Given the description of an element on the screen output the (x, y) to click on. 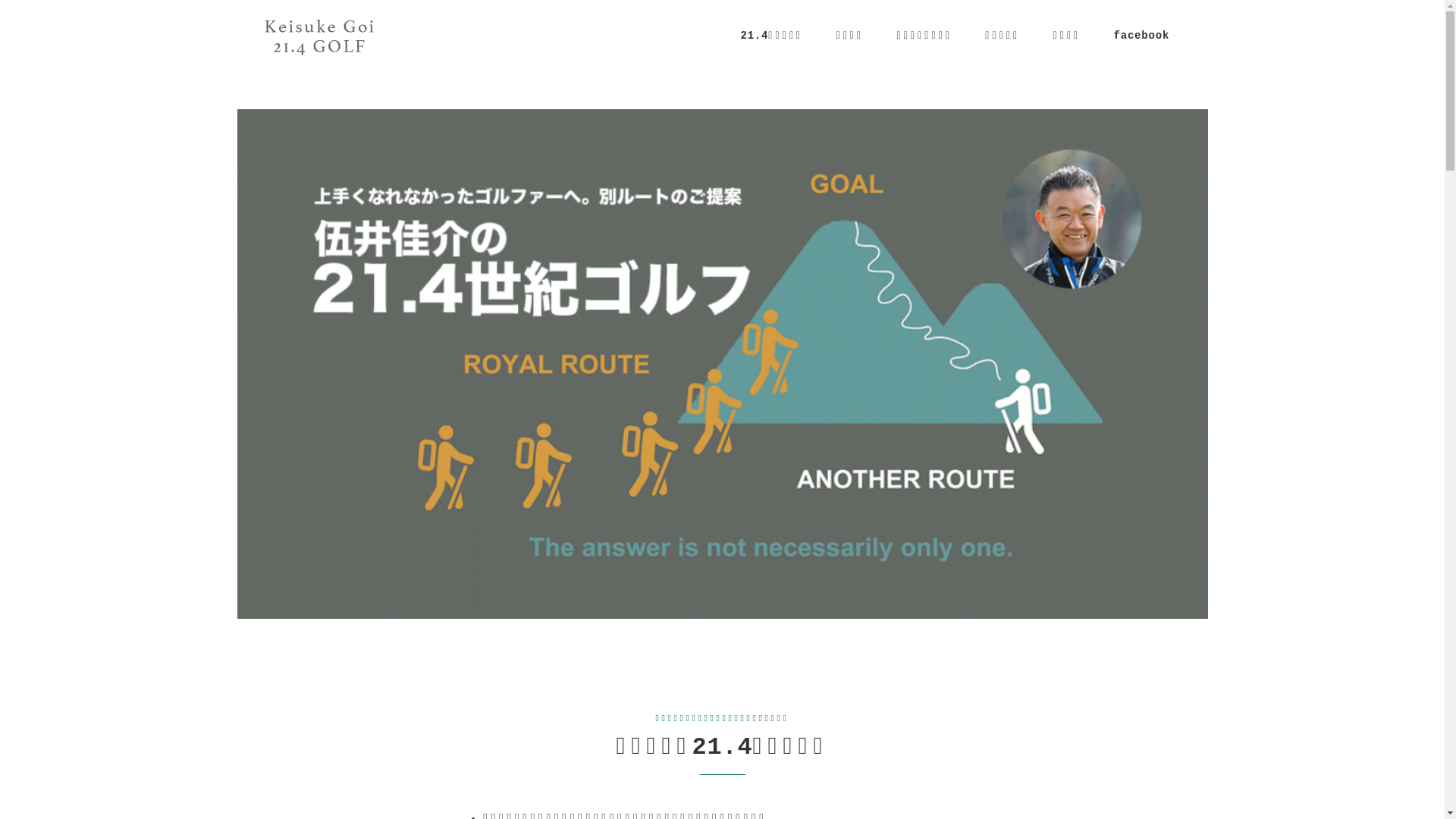
facebook Element type: text (1141, 35)
